Given the description of an element on the screen output the (x, y) to click on. 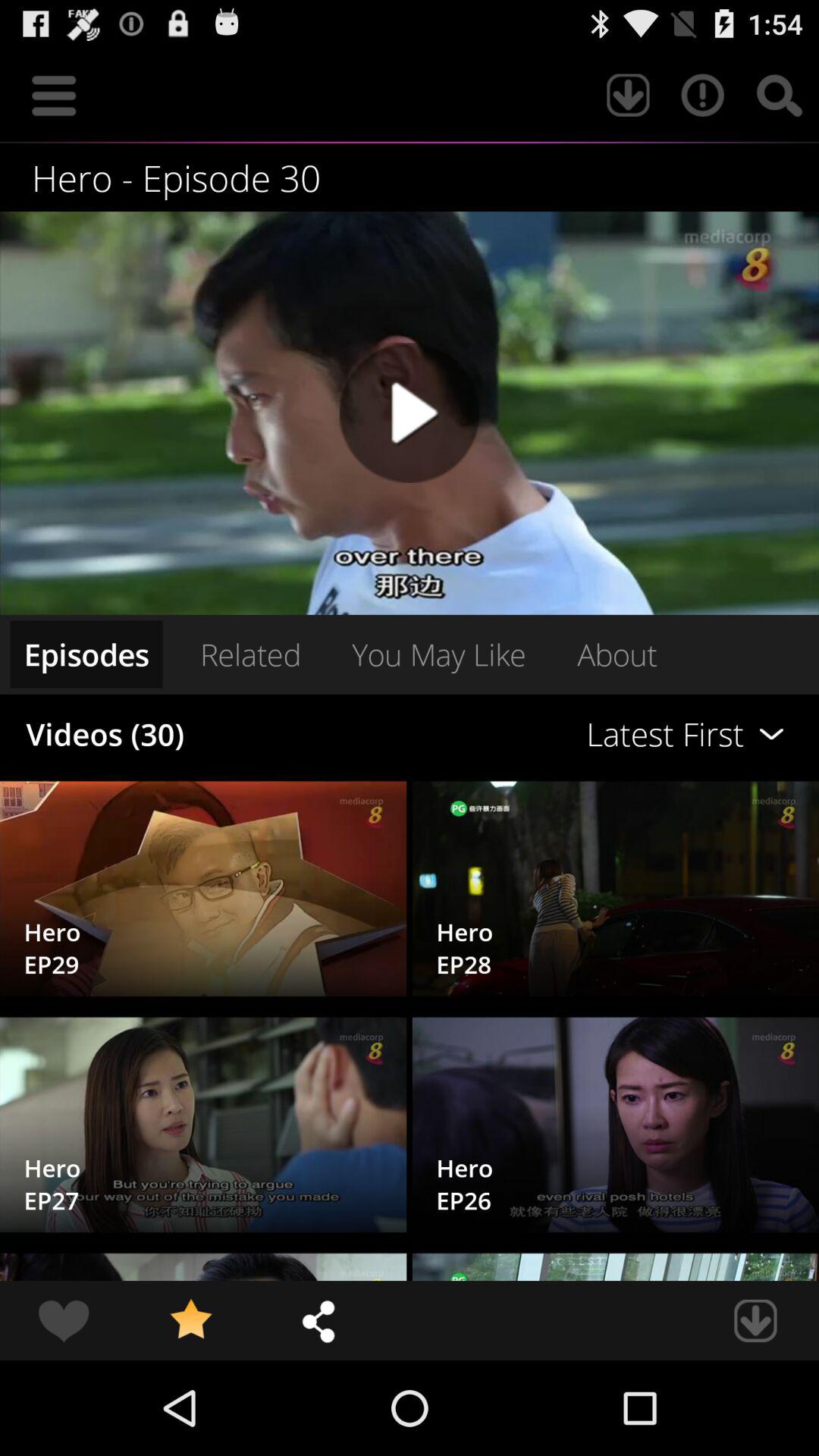
turn on the icon above the you may like item (409, 412)
